Given the description of an element on the screen output the (x, y) to click on. 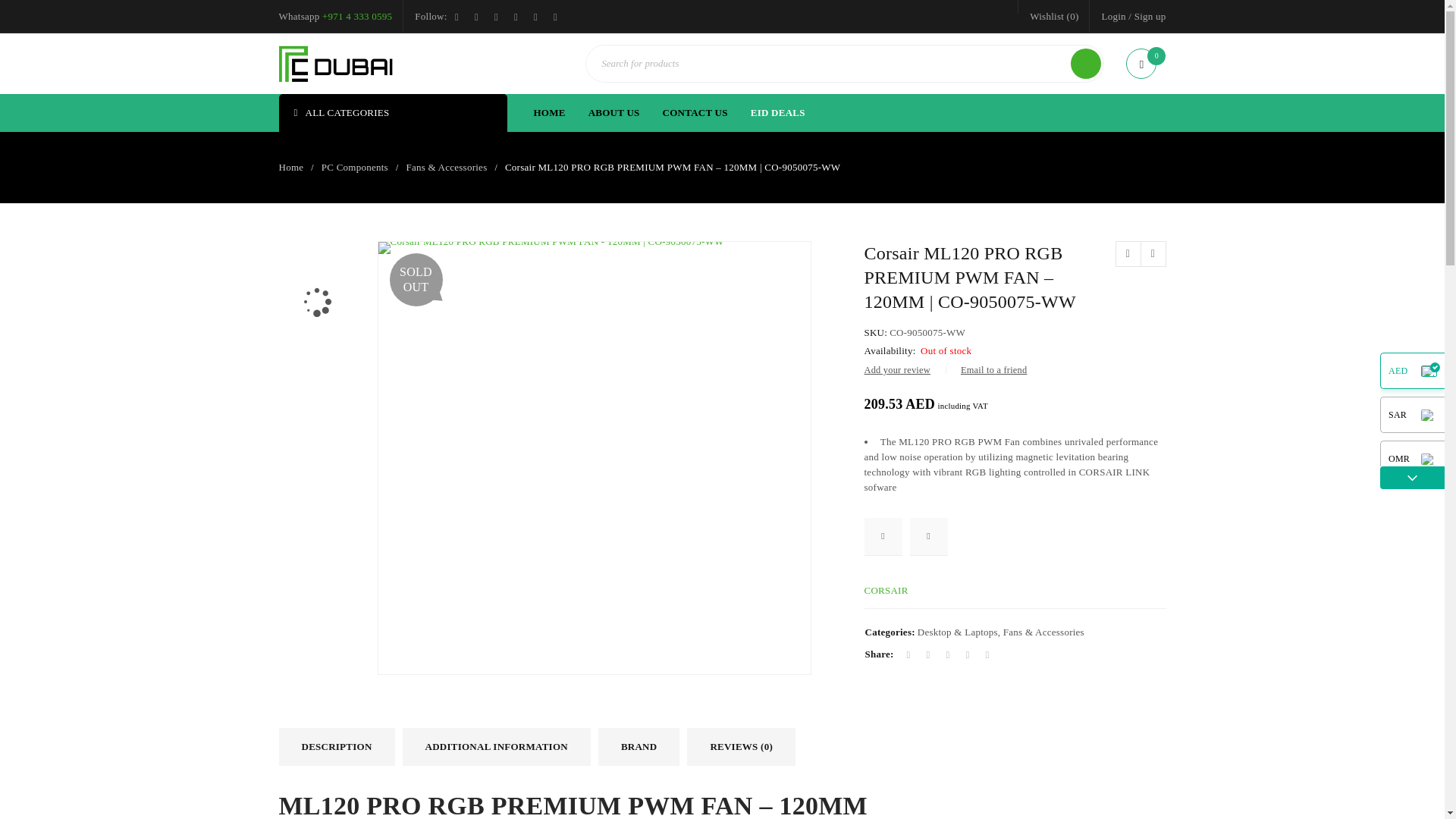
Login (1112, 16)
View your shopping bag (1145, 64)
Create New Account (1150, 16)
Search (1085, 63)
Wishlist (1053, 16)
View brand (886, 590)
Log in (371, 476)
images (316, 369)
PCDubai.com (336, 63)
images (316, 278)
WhatsApp (356, 16)
Register (802, 493)
Search (1085, 63)
